Given the description of an element on the screen output the (x, y) to click on. 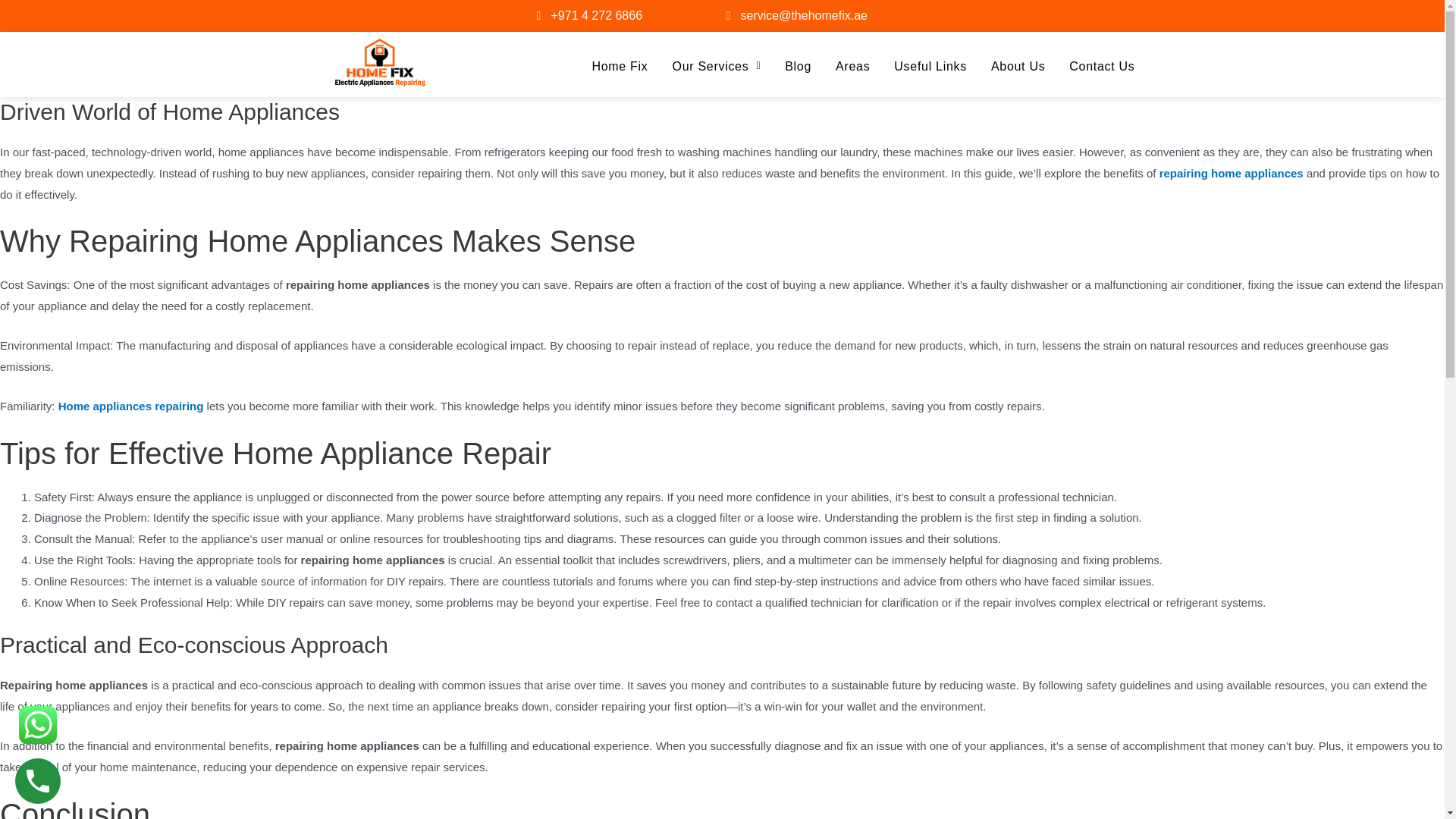
Home Fix (619, 66)
Blog (798, 66)
About Us (1017, 66)
Contact Us (1102, 66)
repairing home appliances (1230, 173)
Our Services (717, 66)
Home appliances repairing (130, 405)
Useful Links (930, 66)
Areas (853, 66)
